Given the description of an element on the screen output the (x, y) to click on. 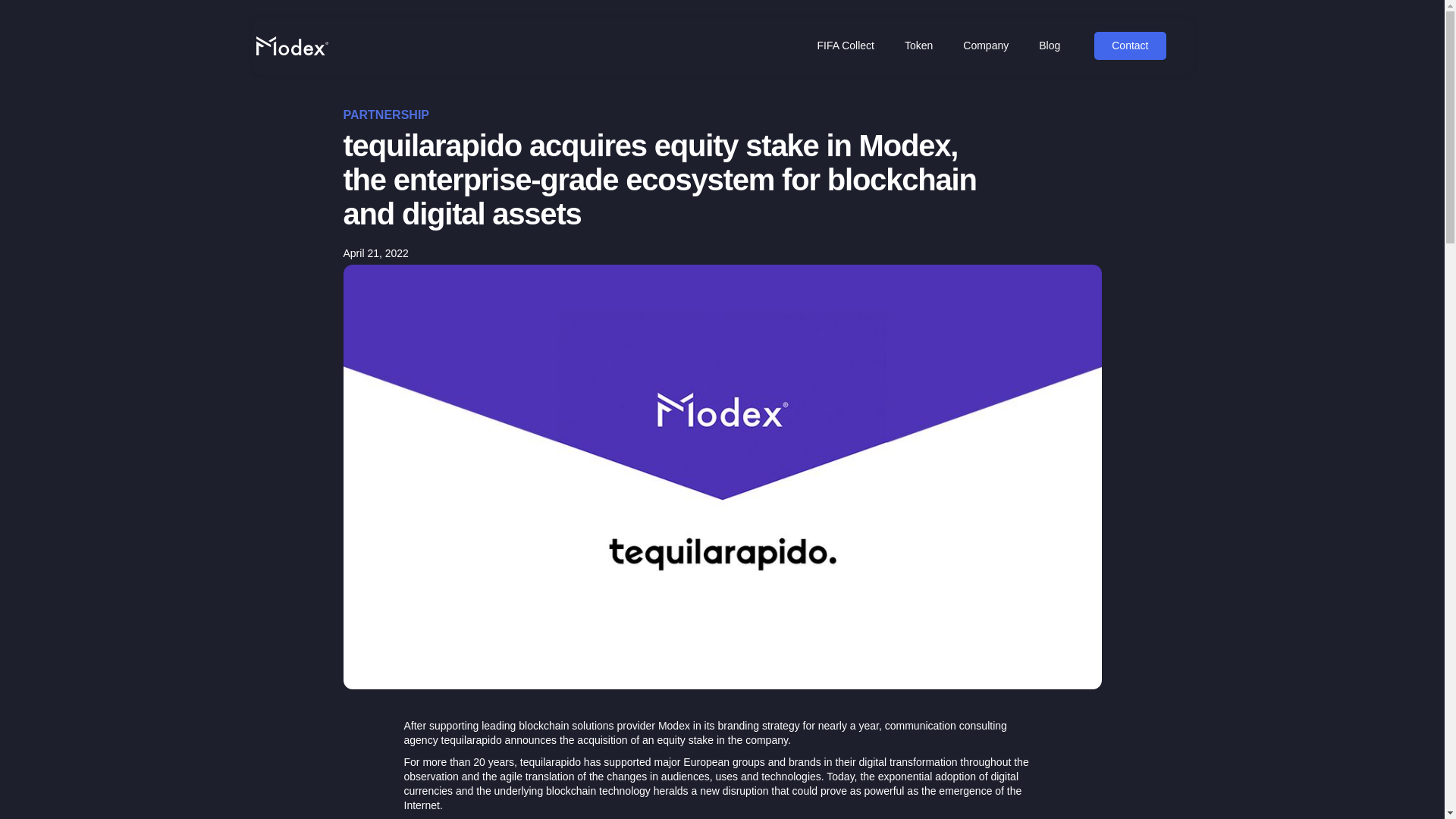
Blog (1049, 45)
FIFA Collect (845, 45)
Company (985, 45)
Token (918, 45)
Contact (1130, 45)
